Given the description of an element on the screen output the (x, y) to click on. 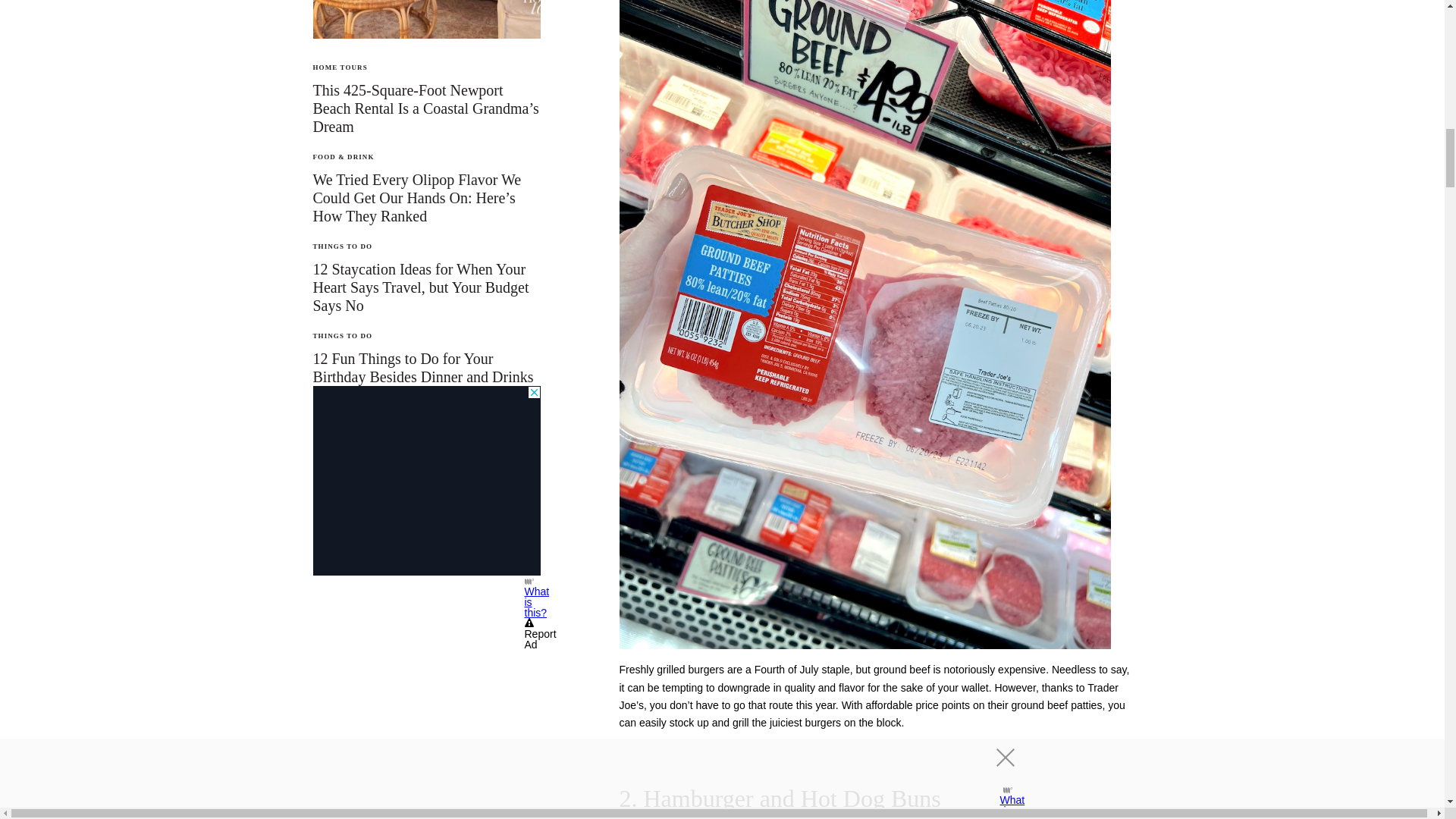
3rd party ad content (426, 480)
